Given the description of an element on the screen output the (x, y) to click on. 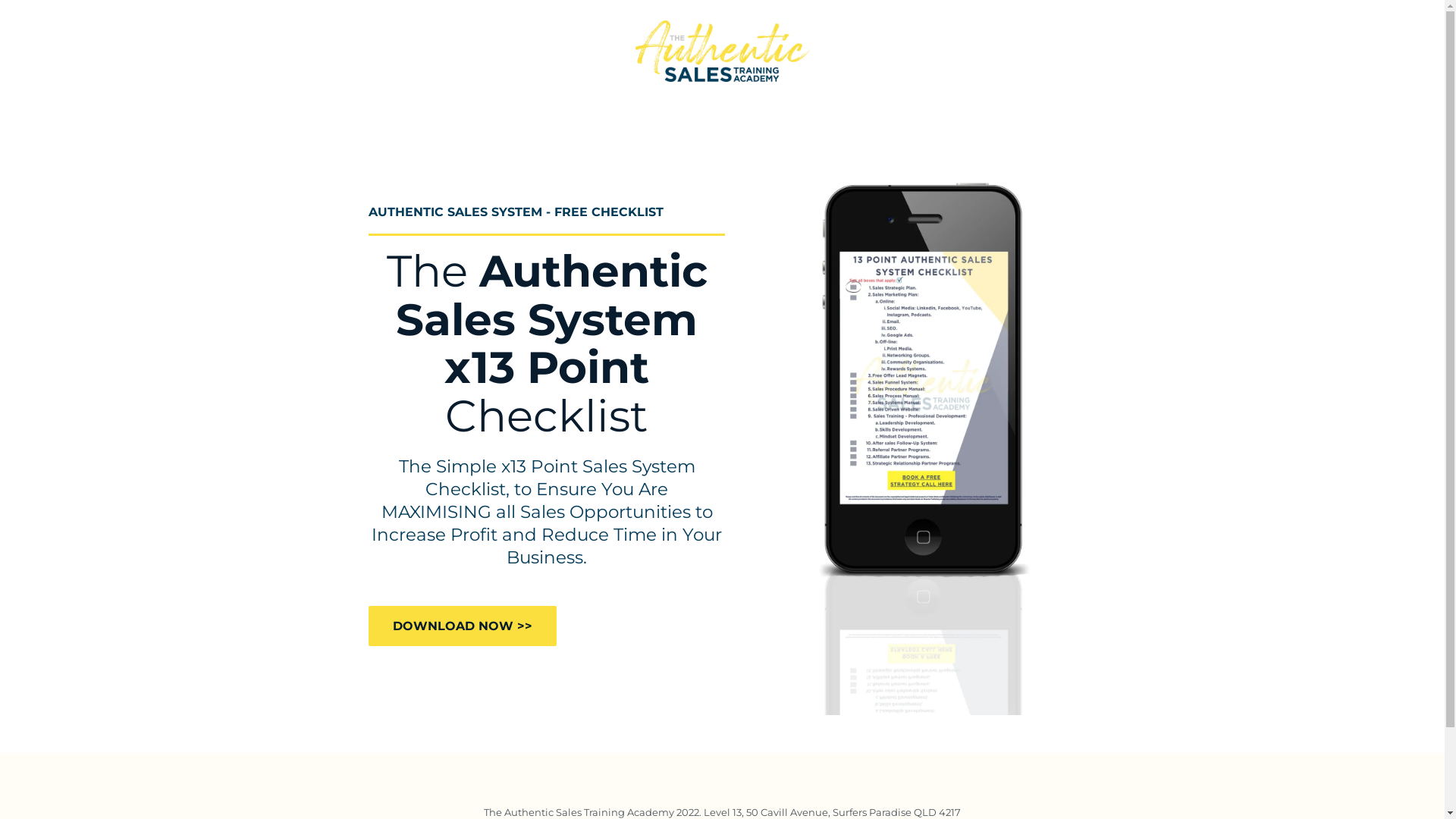
DOWNLOAD NOW >> Element type: text (462, 625)
